Given the description of an element on the screen output the (x, y) to click on. 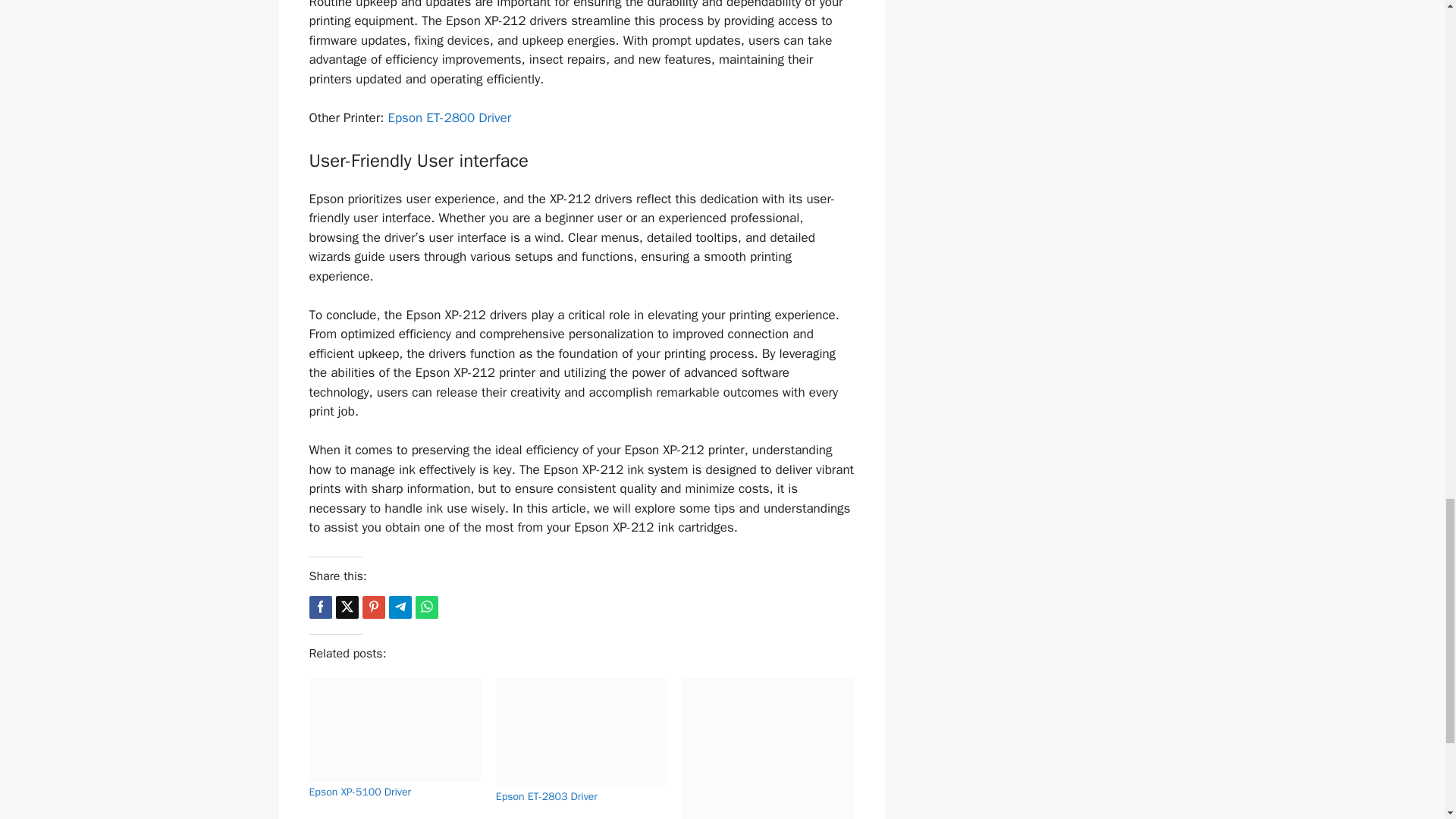
Epson ET-2803 Driver (546, 796)
Share this (319, 607)
Telegram Share (399, 607)
Pin this (373, 607)
Epson XP-5100 Driver (360, 791)
Epson ET-2800 Driver (449, 117)
Epson ET-2800 Driver (449, 117)
Tweet this (346, 607)
